Given the description of an element on the screen output the (x, y) to click on. 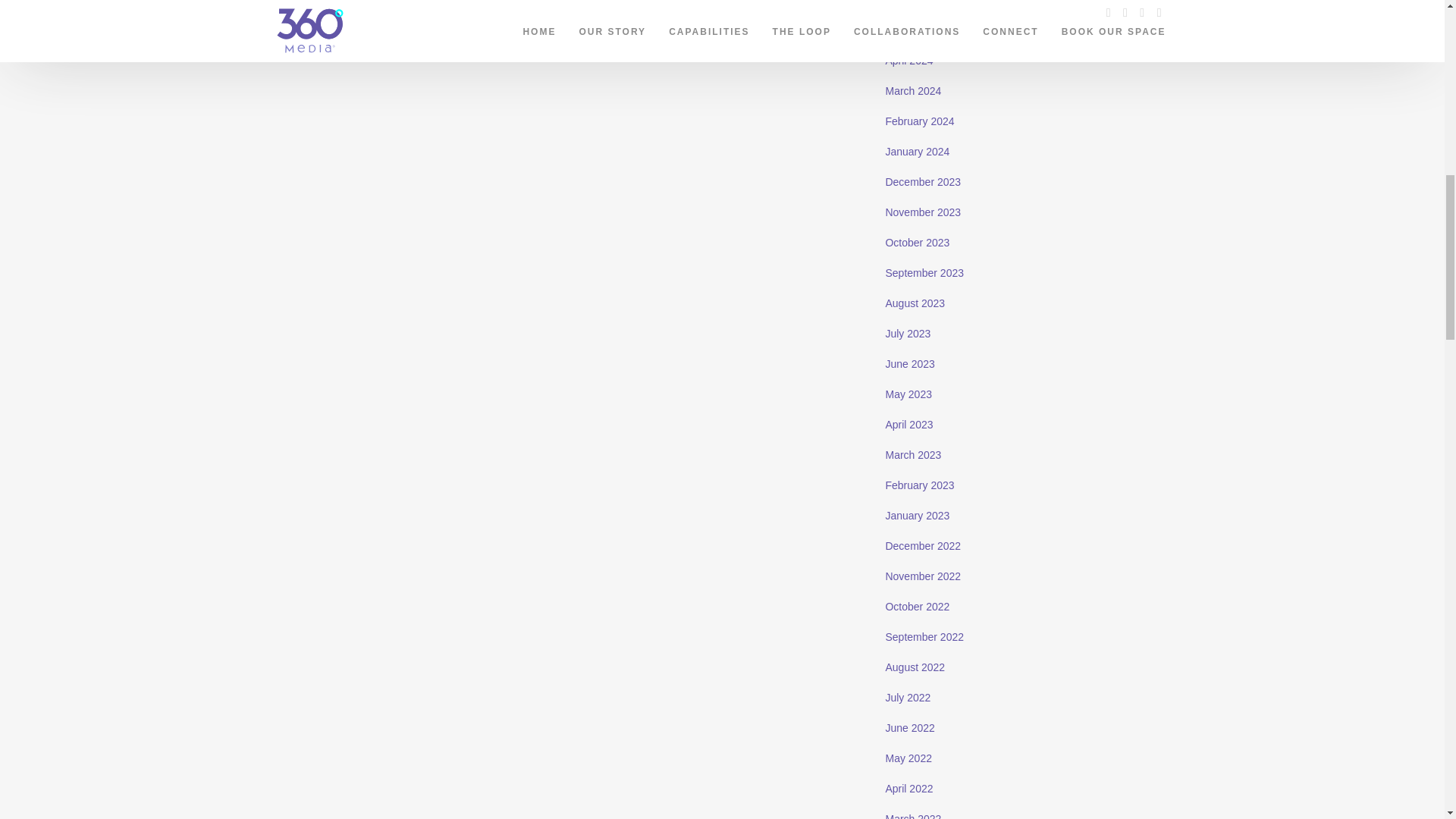
Facebook (355, 25)
March 2024 (912, 91)
August 2023 (914, 303)
June 2024 (909, 2)
December 2023 (922, 182)
September 2023 (924, 272)
Twitter (380, 25)
May 2024 (908, 30)
October 2023 (917, 242)
April 2024 (909, 60)
